Given the description of an element on the screen output the (x, y) to click on. 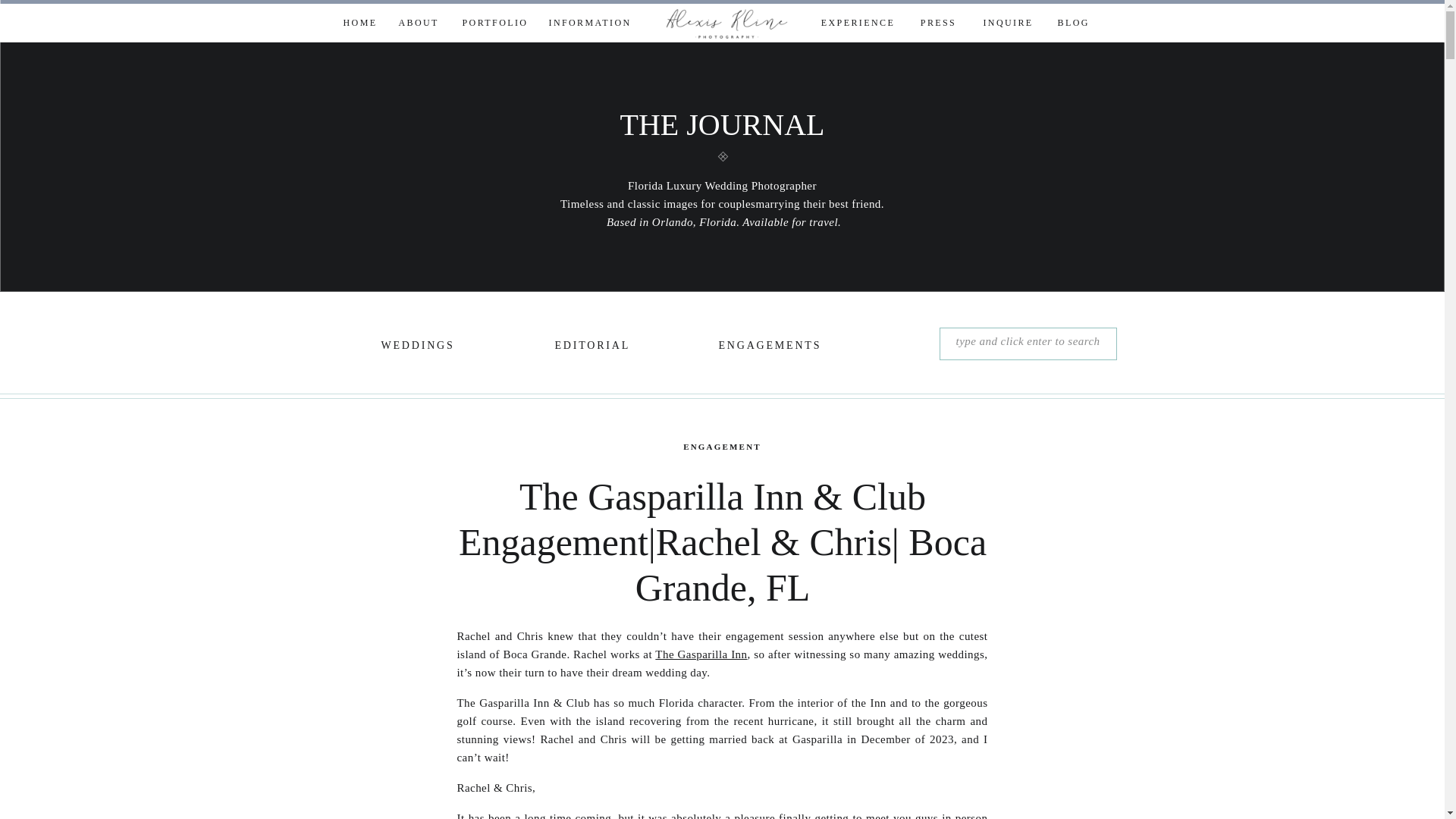
PRESS (938, 24)
PORTFOLIO (494, 24)
BLOG (1073, 24)
EXPERIENCE (858, 24)
INQUIRE (1007, 24)
INFORMATION (585, 24)
ENGAGEMENT (721, 446)
ENGAGEMENTS (764, 347)
ABOUT (418, 24)
EDITORIAL (588, 347)
The Gasparilla Inn (700, 654)
HOME (358, 24)
WEDDINGS (414, 347)
